Given the description of an element on the screen output the (x, y) to click on. 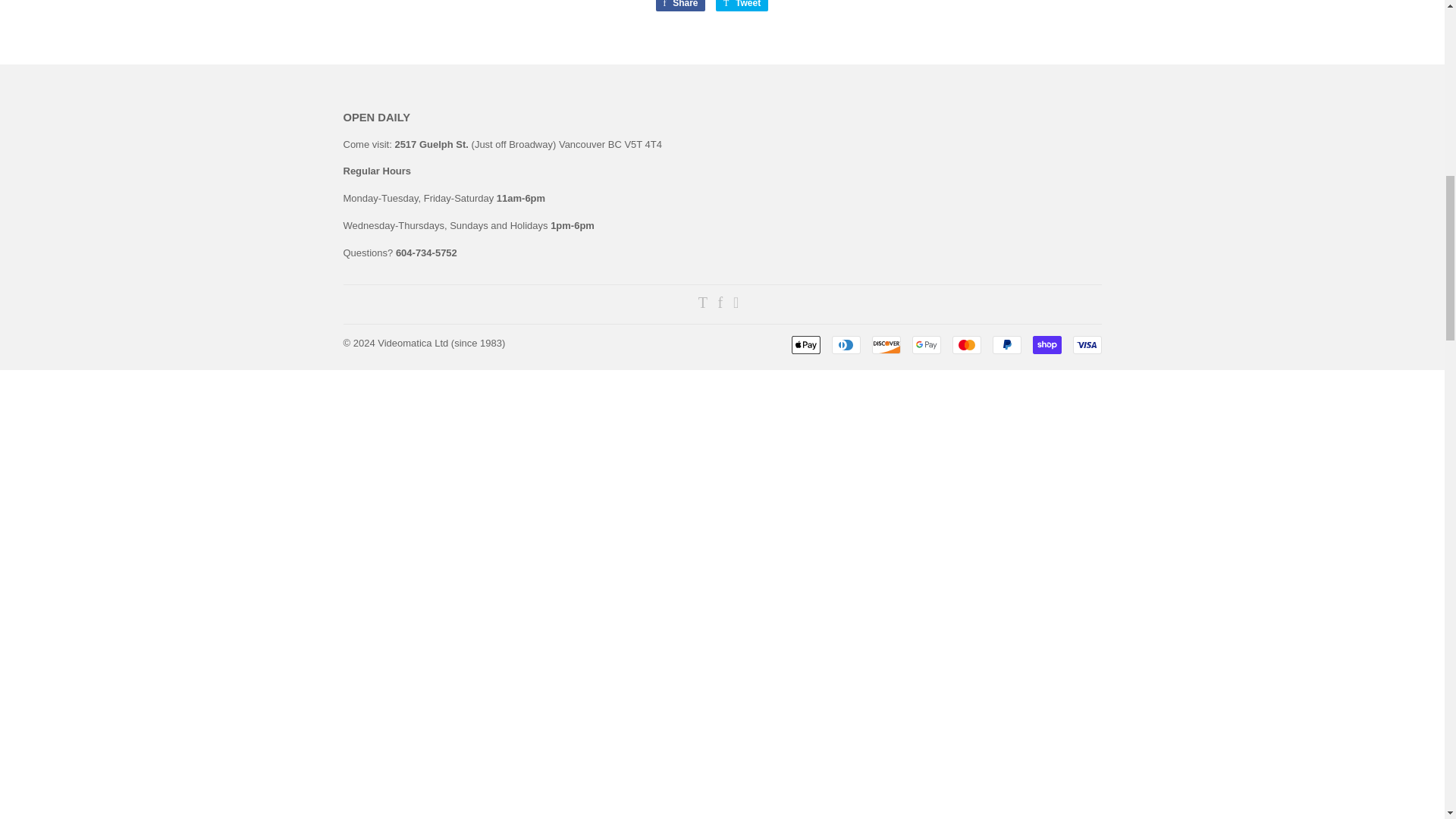
Diners Club (845, 344)
Tweet on Twitter (742, 5)
Google Pay (925, 344)
Mastercard (966, 344)
Discover (886, 344)
Visa (1085, 344)
Apple Pay (806, 344)
Share on Facebook (679, 5)
PayPal (1005, 344)
Shop Pay (1046, 344)
